Given the description of an element on the screen output the (x, y) to click on. 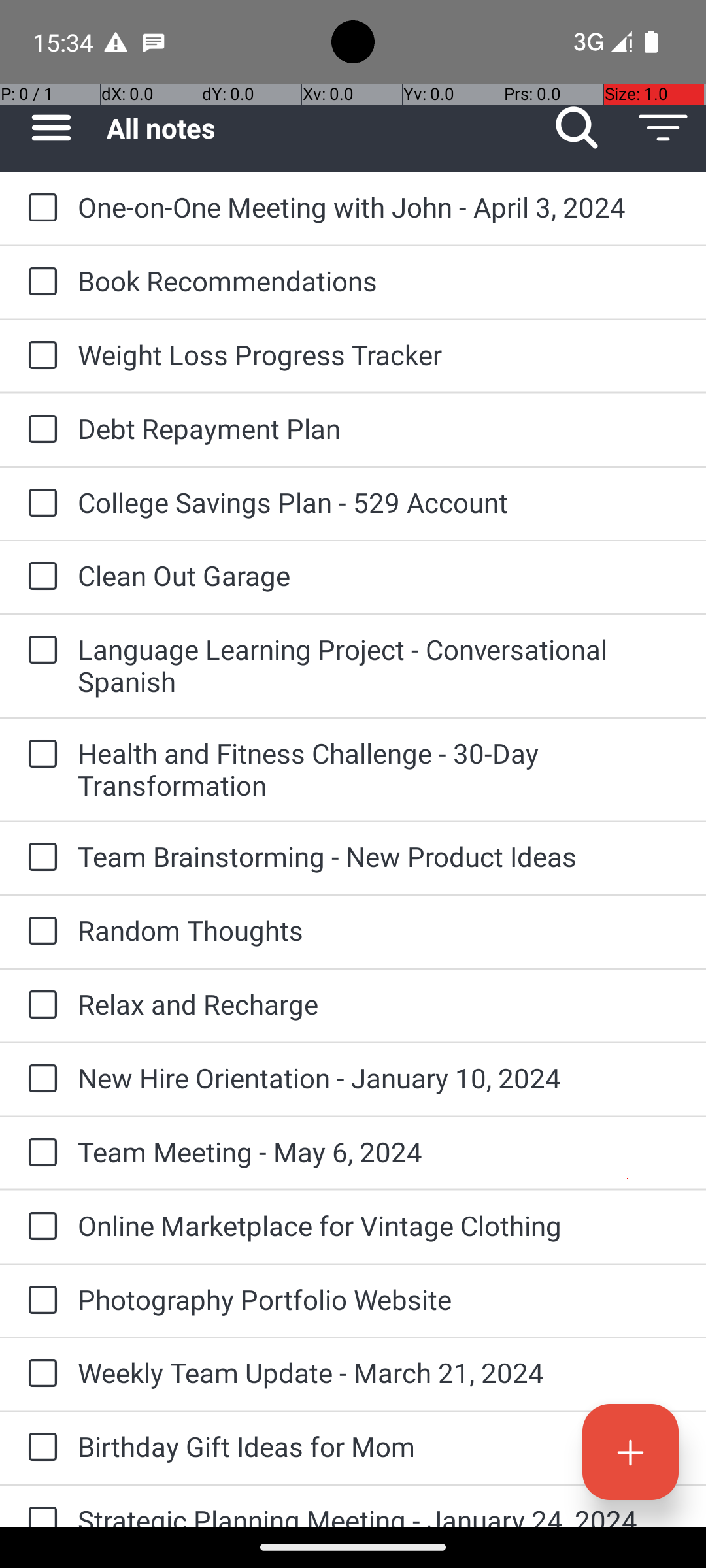
to-do: One-on-One Meeting with John - April 3, 2024 Element type: android.widget.CheckBox (38, 208)
One-on-One Meeting with John - April 3, 2024 Element type: android.widget.TextView (378, 206)
to-do: Book Recommendations Element type: android.widget.CheckBox (38, 282)
Book Recommendations Element type: android.widget.TextView (378, 280)
to-do: Weight Loss Progress Tracker Element type: android.widget.CheckBox (38, 356)
Weight Loss Progress Tracker Element type: android.widget.TextView (378, 354)
to-do: Debt Repayment Plan Element type: android.widget.CheckBox (38, 429)
Debt Repayment Plan Element type: android.widget.TextView (378, 427)
to-do: College Savings Plan - 529 Account Element type: android.widget.CheckBox (38, 503)
College Savings Plan - 529 Account Element type: android.widget.TextView (378, 501)
to-do: Clean Out Garage Element type: android.widget.CheckBox (38, 576)
Clean Out Garage Element type: android.widget.TextView (378, 574)
to-do: Language Learning Project - Conversational Spanish Element type: android.widget.CheckBox (38, 650)
Language Learning Project - Conversational Spanish Element type: android.widget.TextView (378, 664)
to-do: Health and Fitness Challenge - 30-Day Transformation Element type: android.widget.CheckBox (38, 754)
Health and Fitness Challenge - 30-Day Transformation Element type: android.widget.TextView (378, 768)
to-do: Team Brainstorming - New Product Ideas Element type: android.widget.CheckBox (38, 857)
Team Brainstorming - New Product Ideas Element type: android.widget.TextView (378, 855)
to-do: Random Thoughts Element type: android.widget.CheckBox (38, 931)
Random Thoughts Element type: android.widget.TextView (378, 929)
to-do: Relax and Recharge Element type: android.widget.CheckBox (38, 1005)
Relax and Recharge Element type: android.widget.TextView (378, 1003)
to-do: New Hire Orientation - January 10, 2024 Element type: android.widget.CheckBox (38, 1079)
New Hire Orientation - January 10, 2024 Element type: android.widget.TextView (378, 1077)
to-do: Team Meeting - May 6, 2024 Element type: android.widget.CheckBox (38, 1153)
Team Meeting - May 6, 2024 Element type: android.widget.TextView (378, 1151)
to-do: Online Marketplace for Vintage Clothing Element type: android.widget.CheckBox (38, 1227)
Online Marketplace for Vintage Clothing Element type: android.widget.TextView (378, 1224)
to-do: Photography Portfolio Website Element type: android.widget.CheckBox (38, 1300)
Photography Portfolio Website Element type: android.widget.TextView (378, 1298)
to-do: Weekly Team Update - March 21, 2024 Element type: android.widget.CheckBox (38, 1373)
Weekly Team Update - March 21, 2024 Element type: android.widget.TextView (378, 1371)
to-do: Birthday Gift Ideas for Mom Element type: android.widget.CheckBox (38, 1447)
Birthday Gift Ideas for Mom Element type: android.widget.TextView (378, 1445)
to-do: Strategic Planning Meeting - January 24, 2024 Element type: android.widget.CheckBox (38, 1505)
Strategic Planning Meeting - January 24, 2024 Element type: android.widget.TextView (378, 1513)
